Given the description of an element on the screen output the (x, y) to click on. 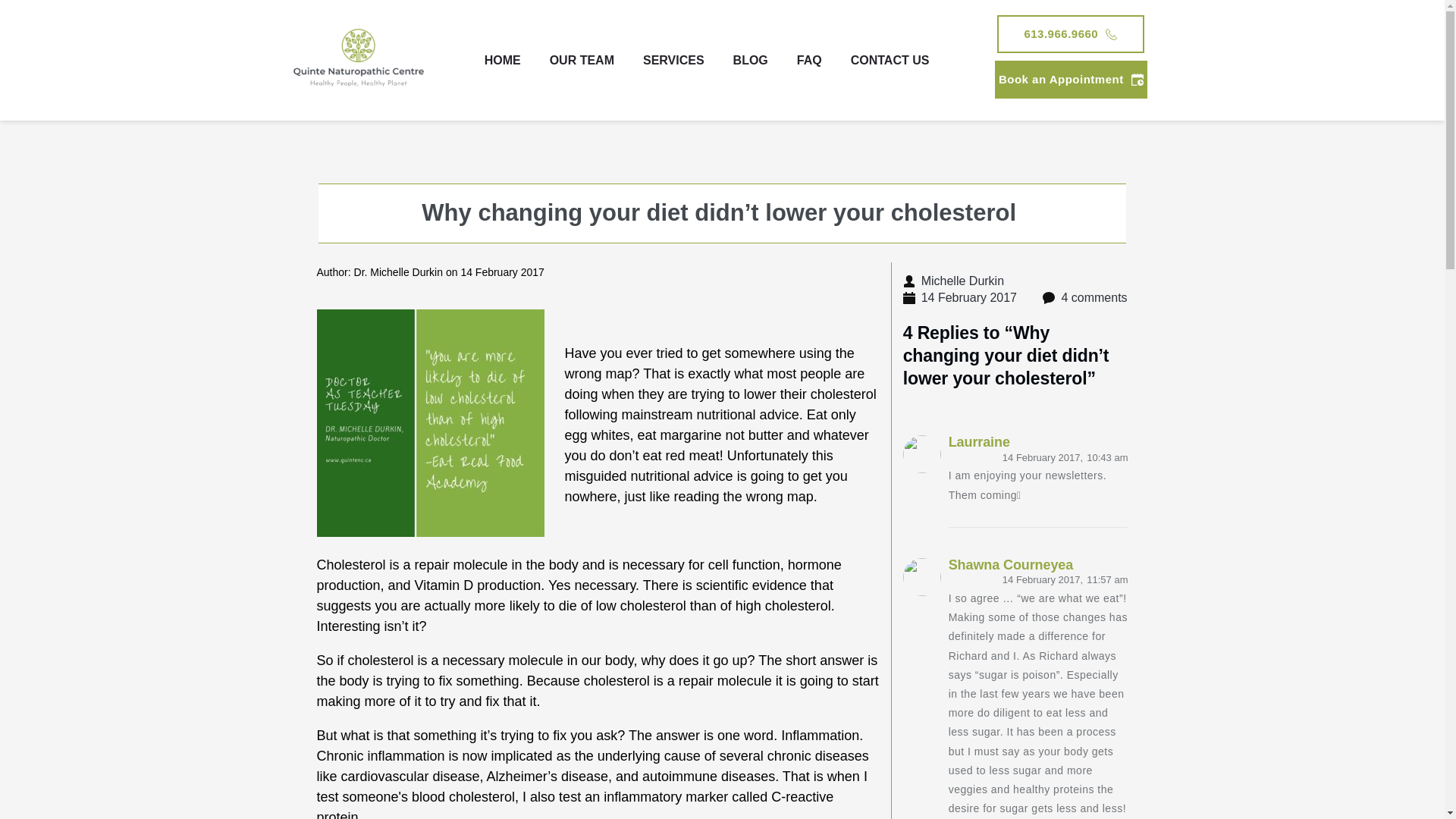
HOME (502, 60)
OUR TEAM (581, 60)
